Given the description of an element on the screen output the (x, y) to click on. 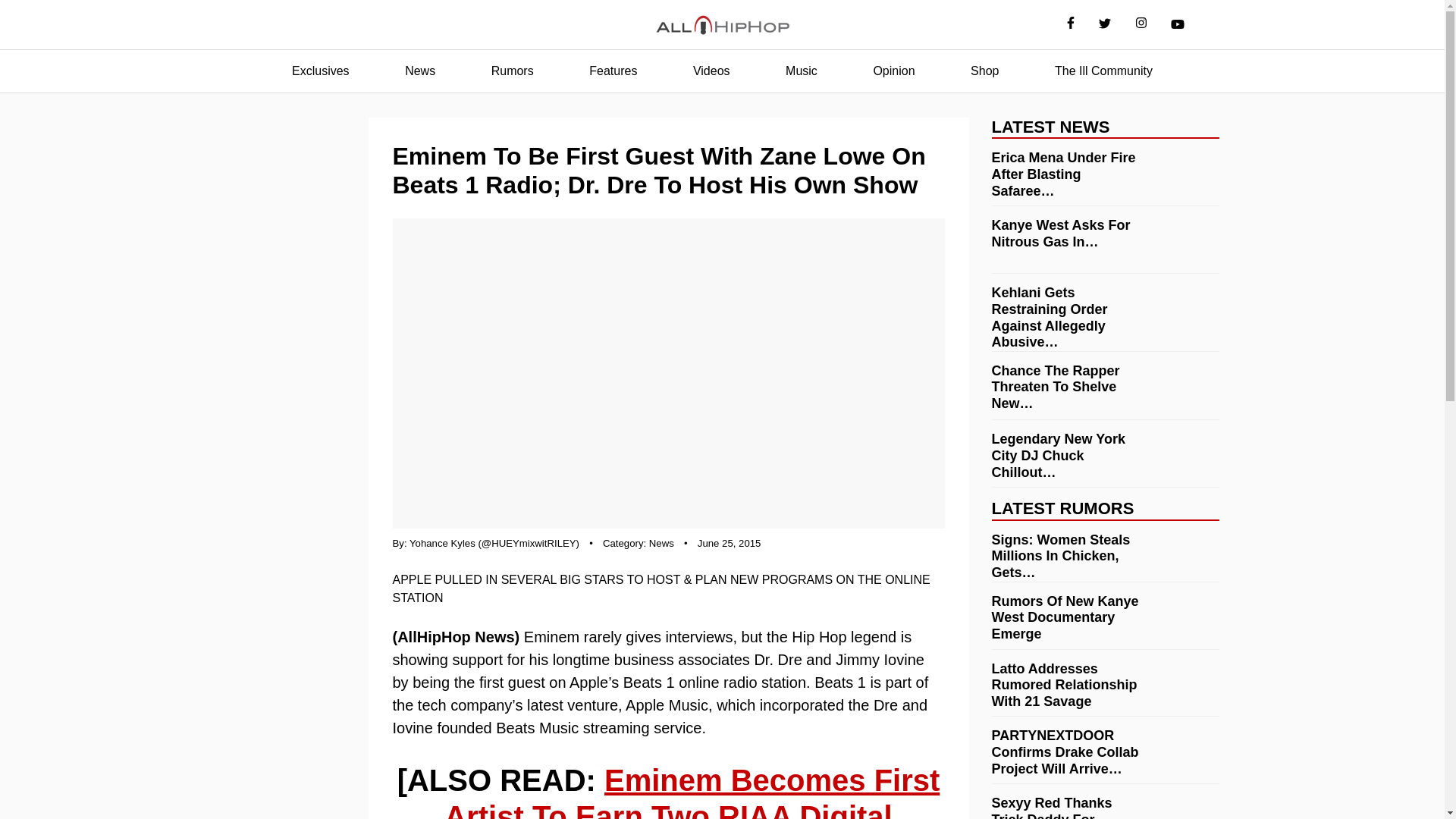
Music (801, 70)
News (661, 542)
Videos (711, 70)
June 25, 2015 (729, 542)
Shop (984, 70)
The Ill Community (1103, 70)
Opinion (893, 70)
Exclusives (320, 70)
AllHipHop (722, 25)
Features (612, 70)
